Given the description of an element on the screen output the (x, y) to click on. 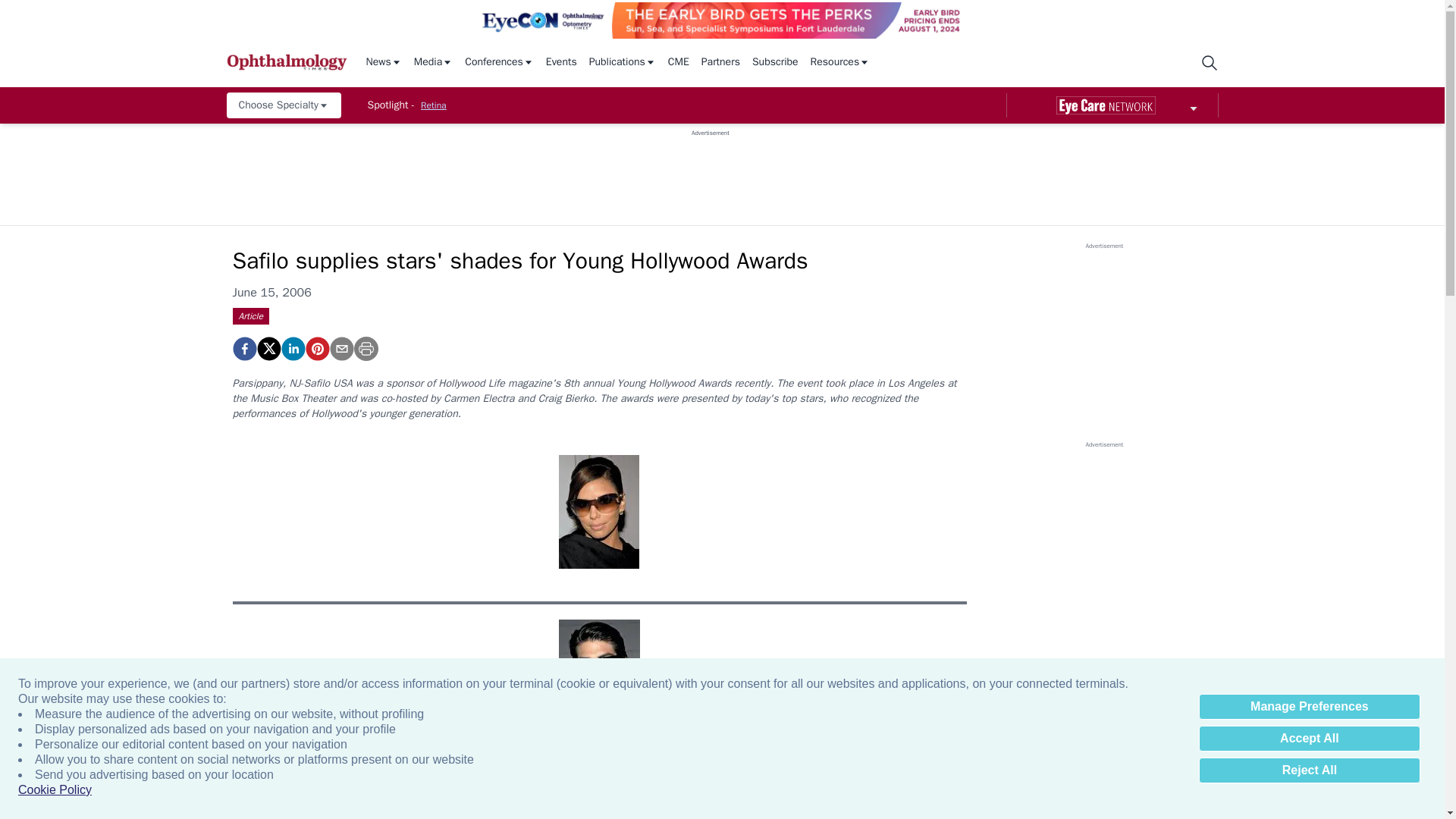
Reject All (1309, 769)
Events (561, 62)
News (383, 62)
CME (678, 62)
Safilo supplies stars' shades for Young Hollywood Awards (243, 348)
Safilo supplies stars' shades for Young Hollywood Awards (316, 348)
Accept All (1309, 738)
Conferences (499, 62)
3rd party ad content (709, 171)
Cookie Policy (54, 789)
